Given the description of an element on the screen output the (x, y) to click on. 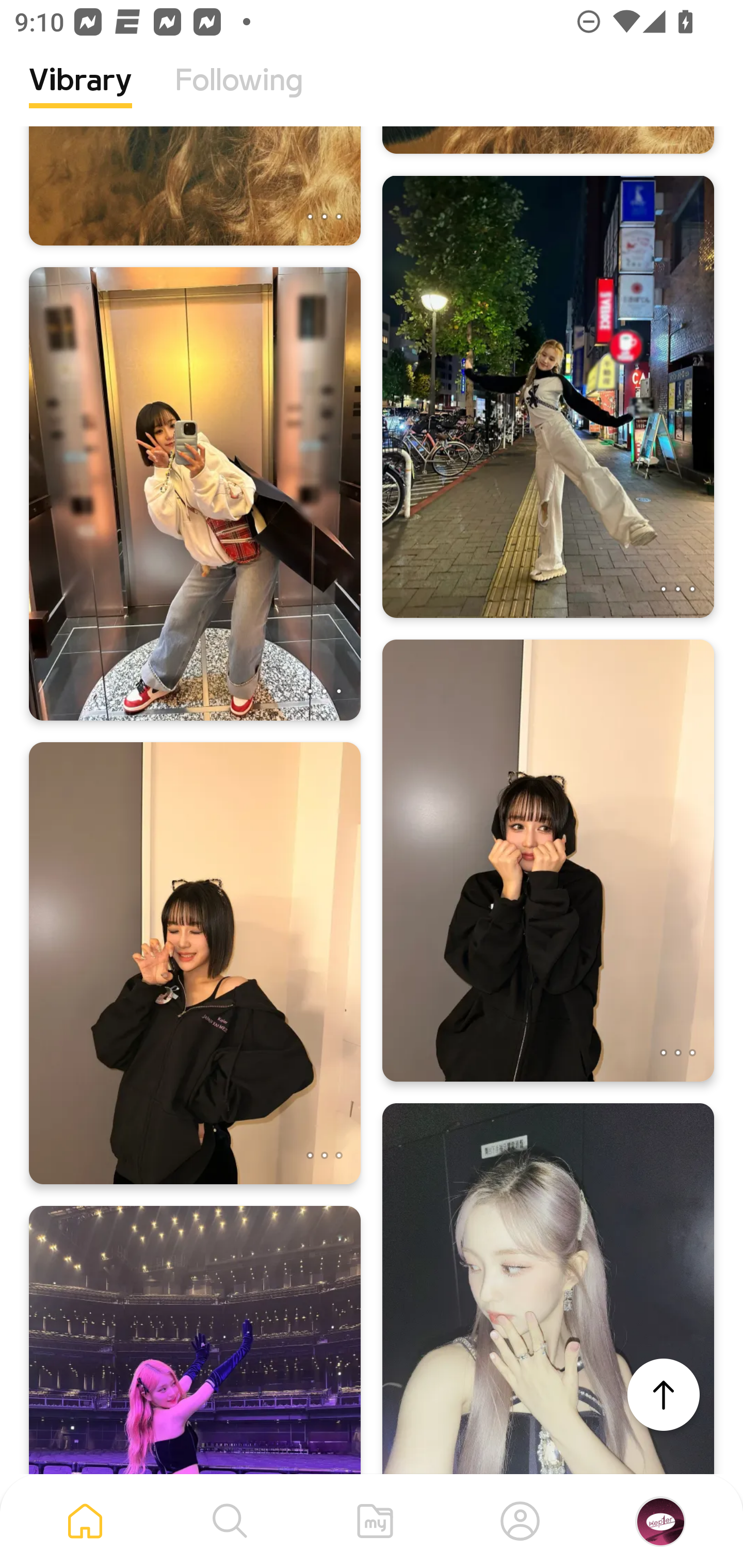
Vibrary (80, 95)
Following (239, 95)
